Given the description of an element on the screen output the (x, y) to click on. 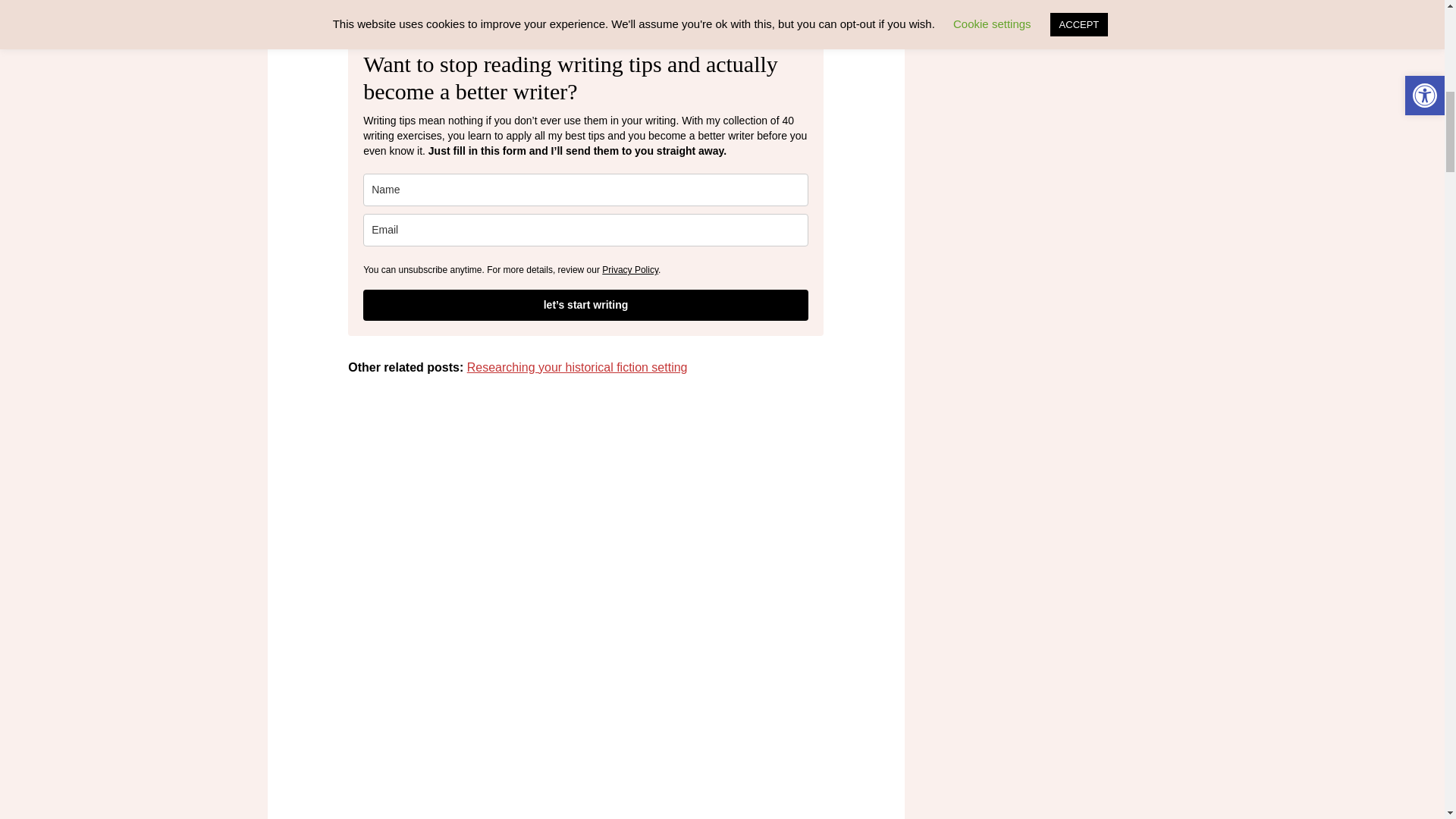
seasons in your story setting (572, 5)
Researching your historical fiction setting (577, 367)
writing character appearance (579, 5)
Privacy Policy (630, 269)
writing character appearance (579, 5)
